Given the description of an element on the screen output the (x, y) to click on. 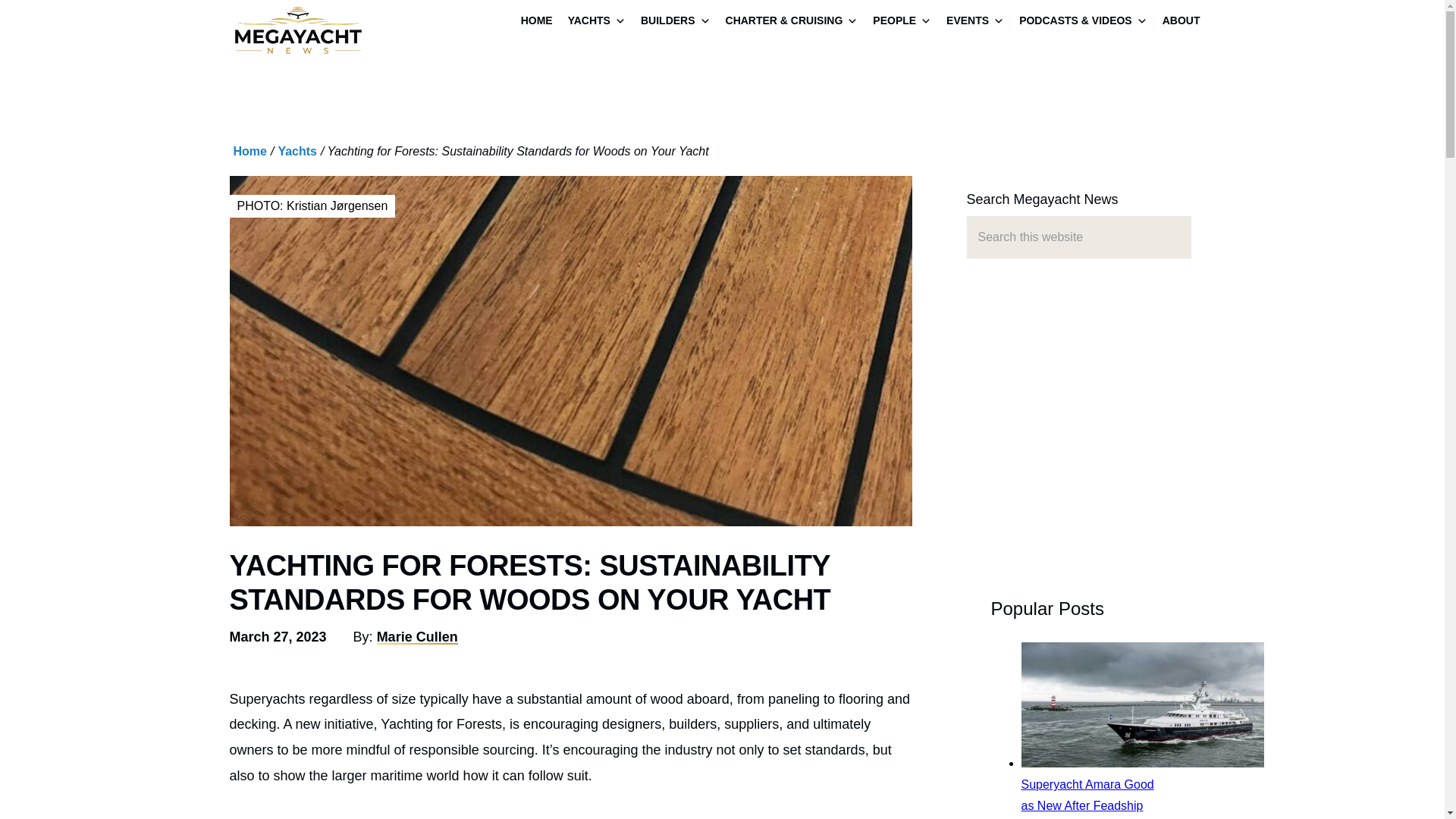
HOME (536, 22)
YACHTS (596, 22)
